Given the description of an element on the screen output the (x, y) to click on. 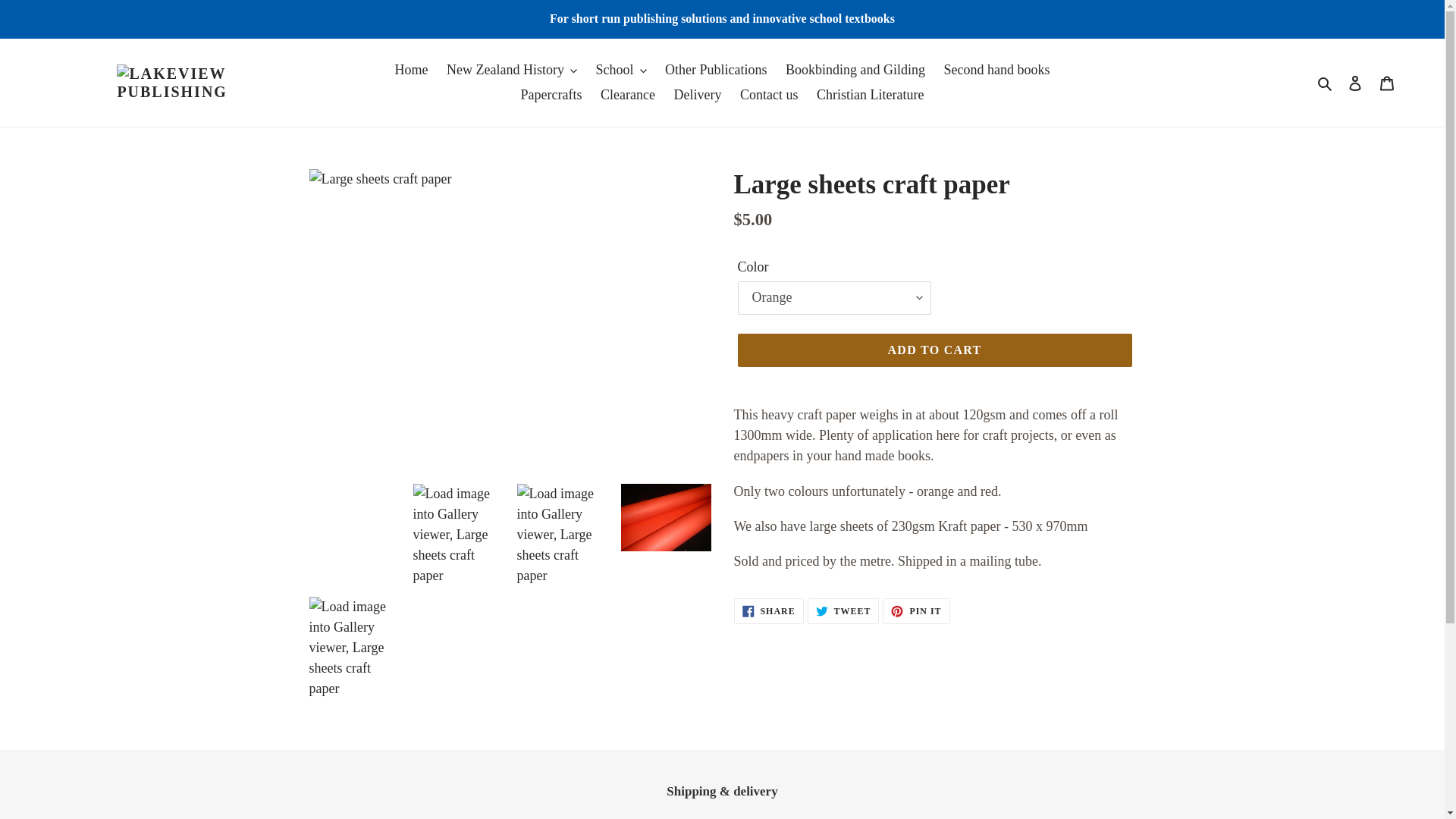
Other Publications (716, 69)
Home (411, 69)
Clearance (627, 94)
New Zealand History (512, 69)
Log in (1355, 82)
Bookbinding and Gilding (855, 69)
Search (1326, 82)
Cart (1387, 82)
Second hand books (996, 69)
Christian Literature (870, 94)
Papercrafts (551, 94)
School (620, 69)
Delivery (697, 94)
Contact us (769, 94)
